Given the description of an element on the screen output the (x, y) to click on. 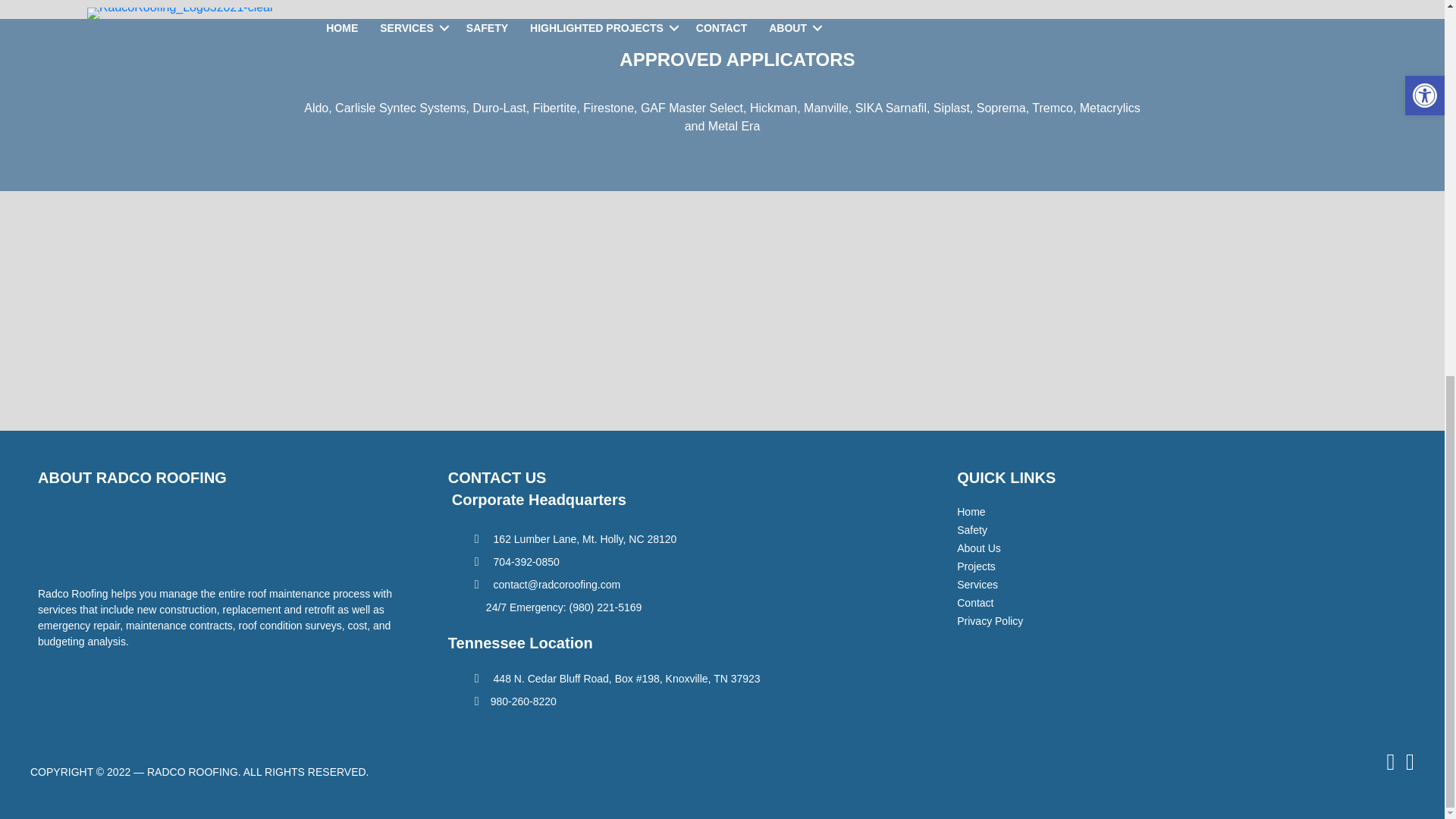
704-392-0850 (516, 562)
logo-combo-gray (722, 325)
980-260-8220 (515, 701)
Safety (1169, 530)
About Us (1169, 548)
Home (1169, 512)
162 Lumber Lane, Mt. Holly, NC 28120 (575, 539)
